Given the description of an element on the screen output the (x, y) to click on. 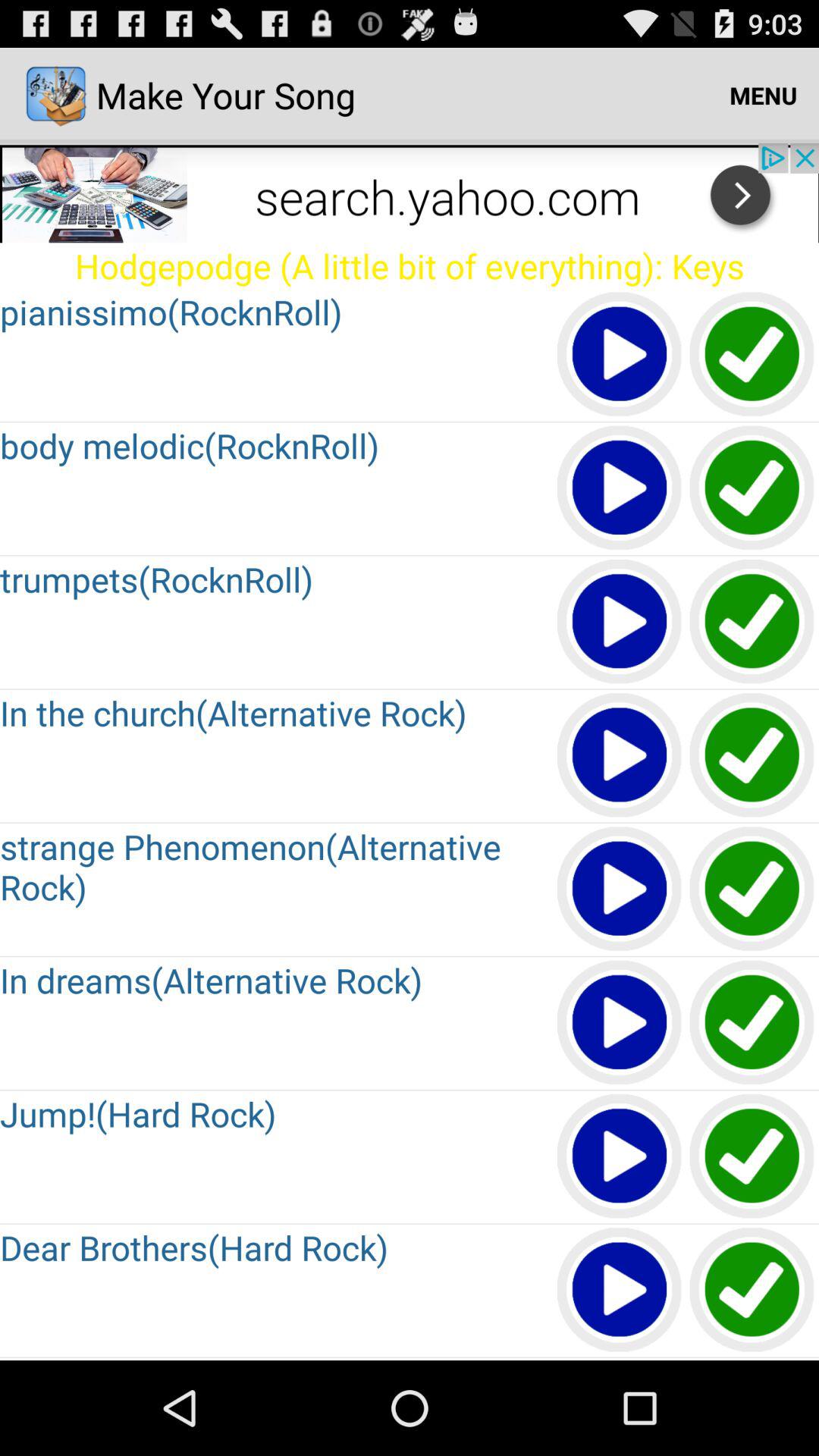
select button (752, 1023)
